Given the description of an element on the screen output the (x, y) to click on. 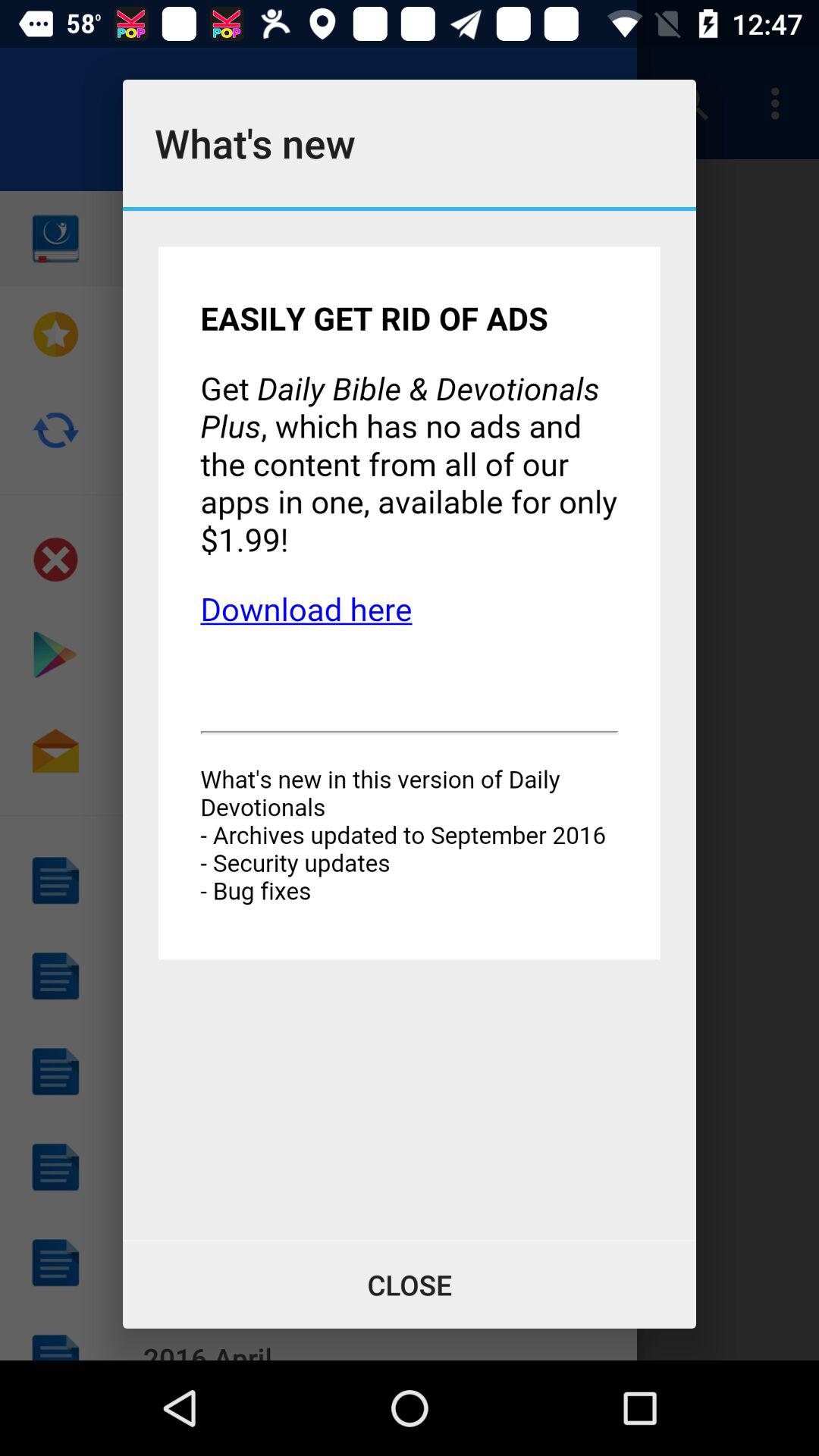
click close (409, 1284)
